Given the description of an element on the screen output the (x, y) to click on. 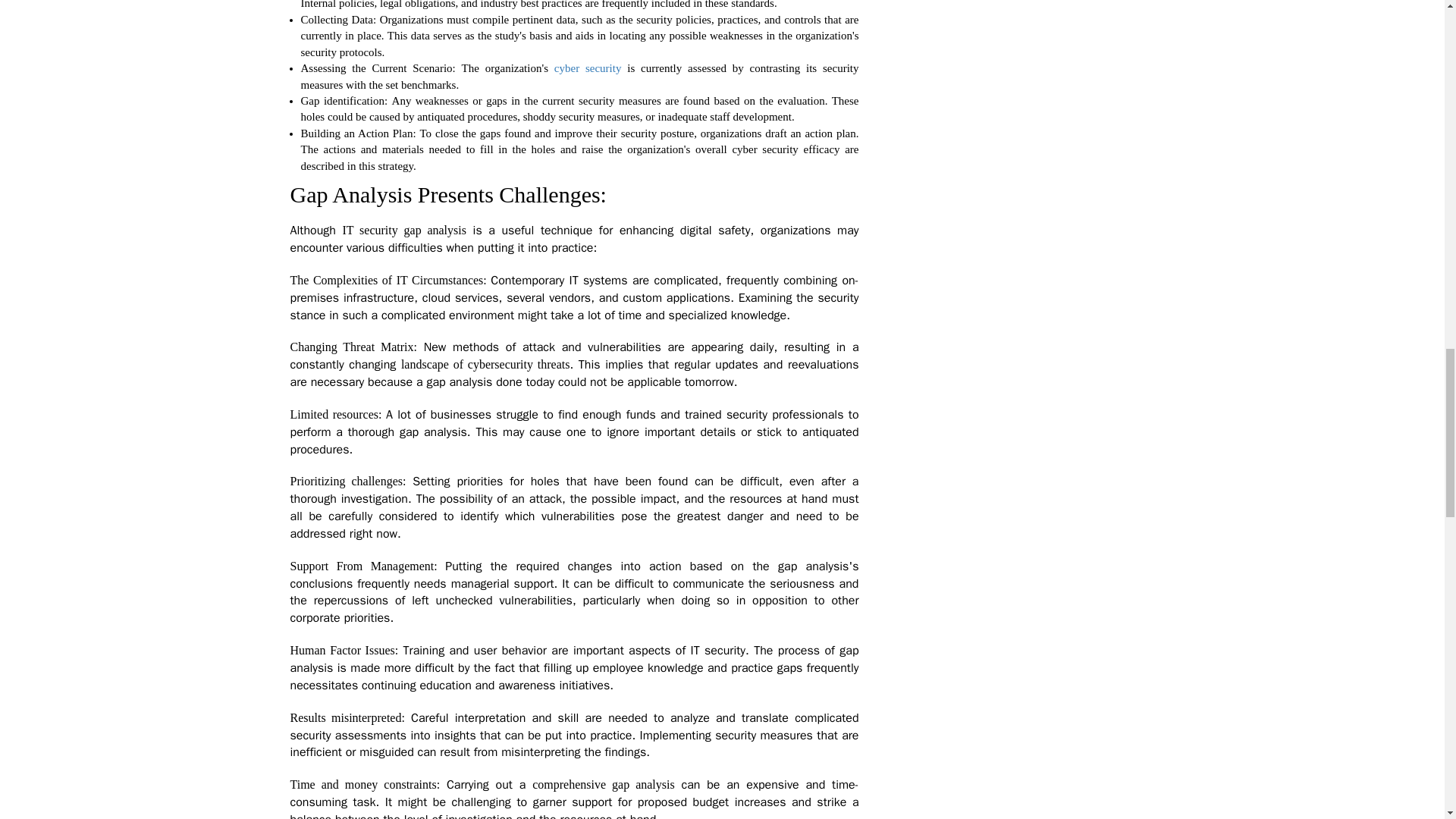
cyber security (587, 68)
